Given the description of an element on the screen output the (x, y) to click on. 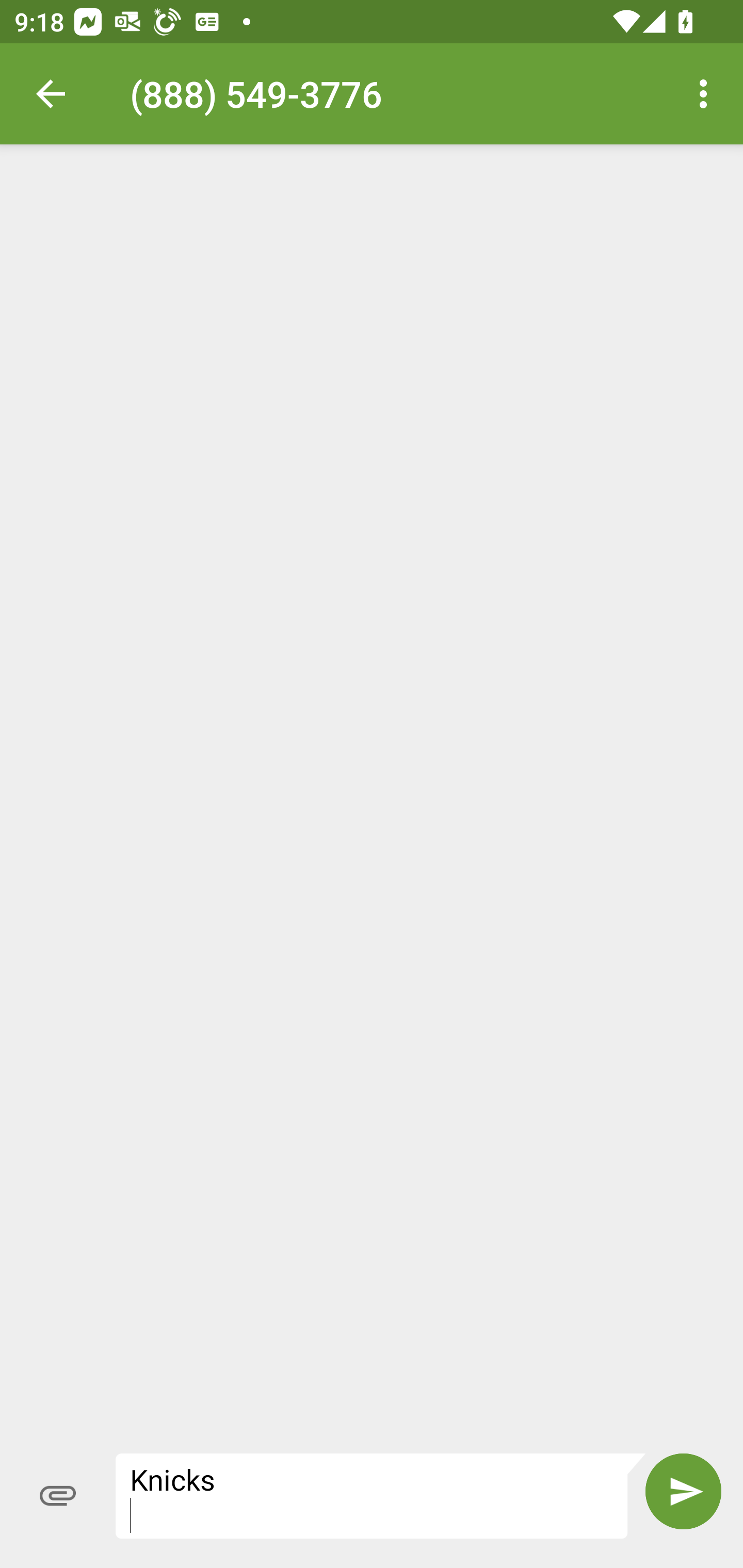
Navigate up (50, 93)
More options (706, 93)
Knicks
 (380, 1495)
Add an attachment (57, 1495)
